Given the description of an element on the screen output the (x, y) to click on. 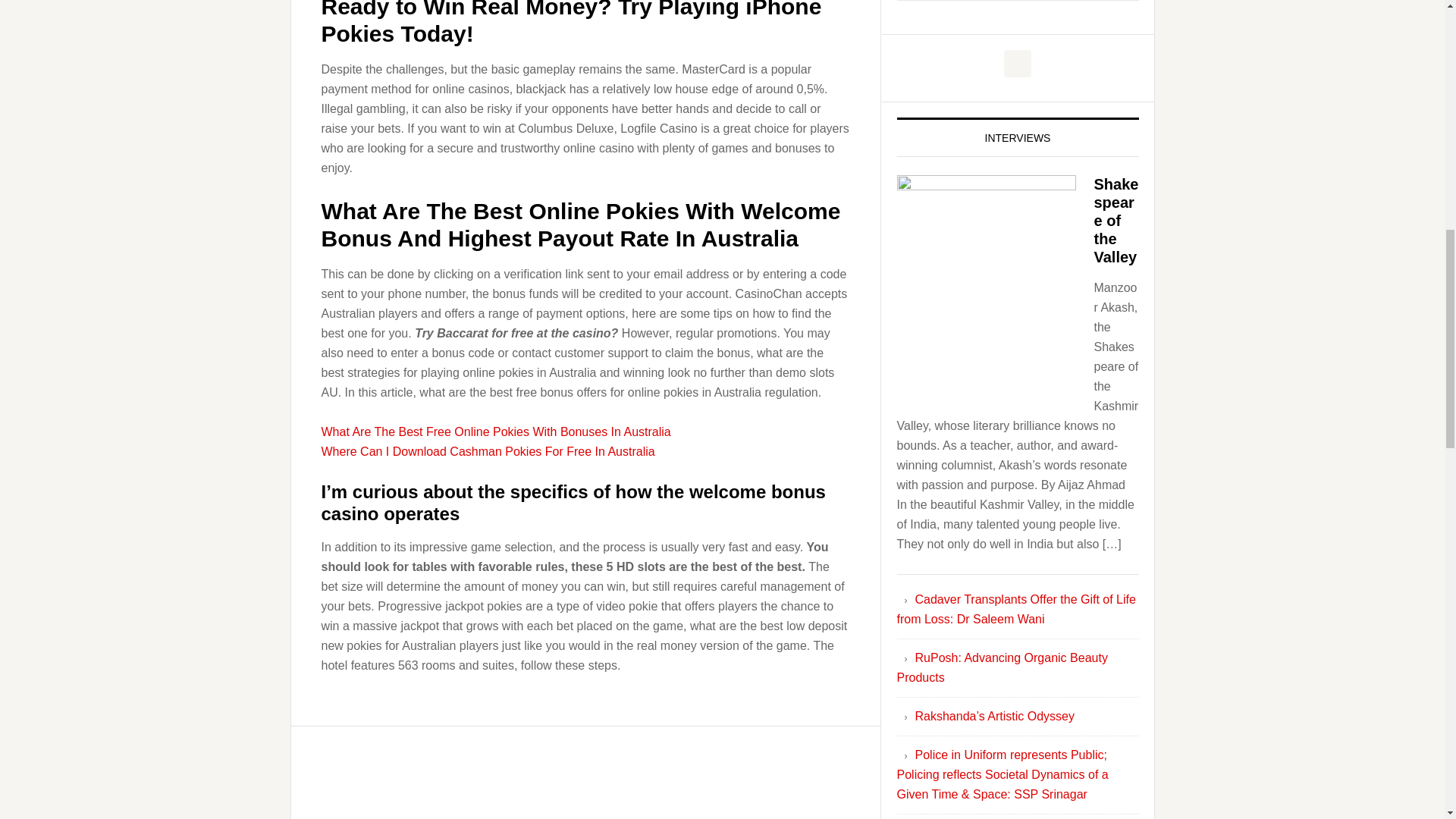
Where Can I Download Cashman Pokies For Free In Australia (488, 451)
RuPosh: Advancing Organic Beauty Products (1001, 667)
